Given the description of an element on the screen output the (x, y) to click on. 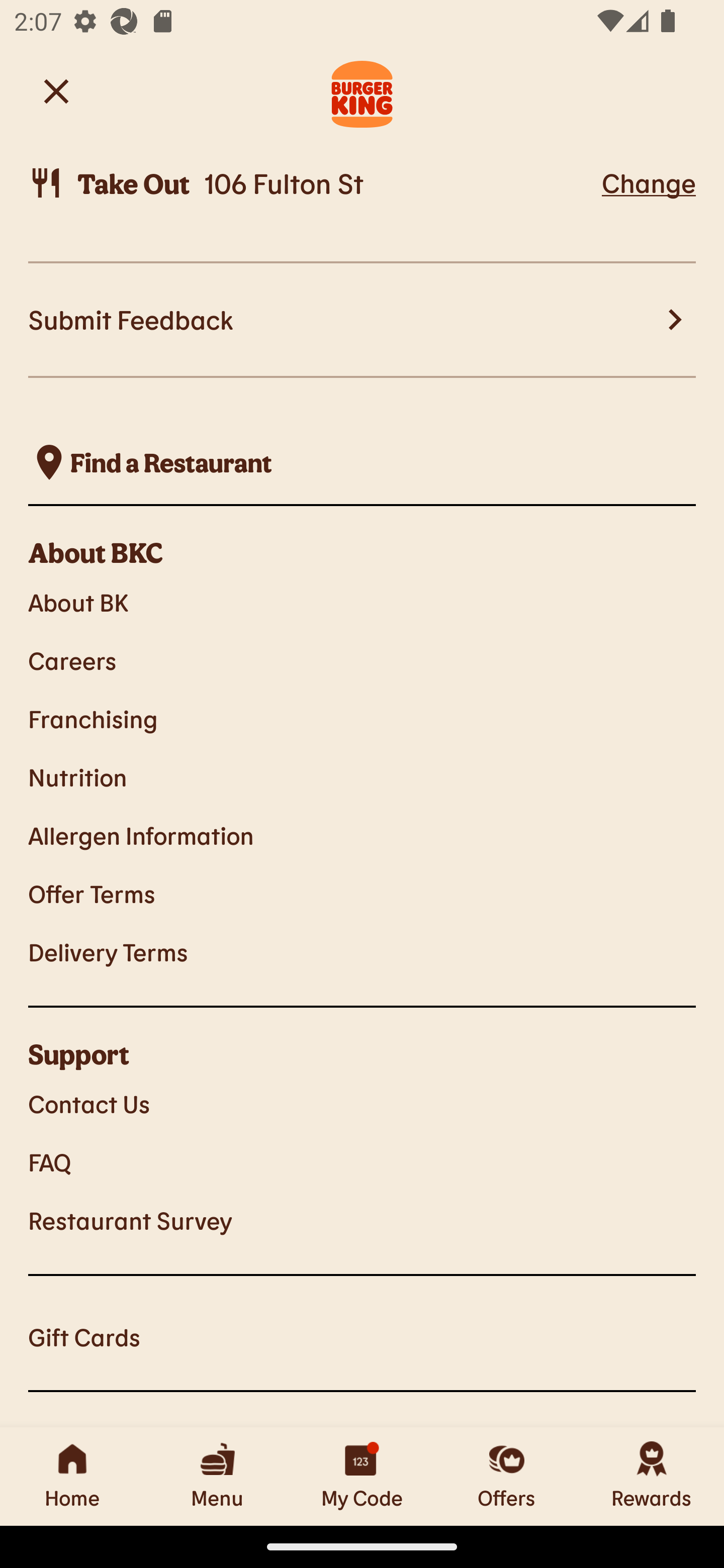
Burger King Logo. Navigate to Home (362, 91)
Back  (56, 90)
Take Out, 106 Fulton St  Take Out 106 Fulton St (311, 183)
Change (648, 182)
Submit Feedback Submit Feedback  (361, 320)
, Find a Restaurant  Find a Restaurant (361, 461)
About BK (361, 601)
Careers (361, 659)
Franchising (361, 717)
Nutrition (361, 776)
Allergen Information (361, 835)
Offer Terms (361, 893)
Delivery Terms (361, 951)
Contact Us (361, 1103)
FAQ (361, 1161)
Restaurant Survey (361, 1219)
Gift Cards (361, 1336)
Home (72, 1475)
Menu (216, 1475)
My Code (361, 1475)
Offers (506, 1475)
Rewards (651, 1475)
